Given the description of an element on the screen output the (x, y) to click on. 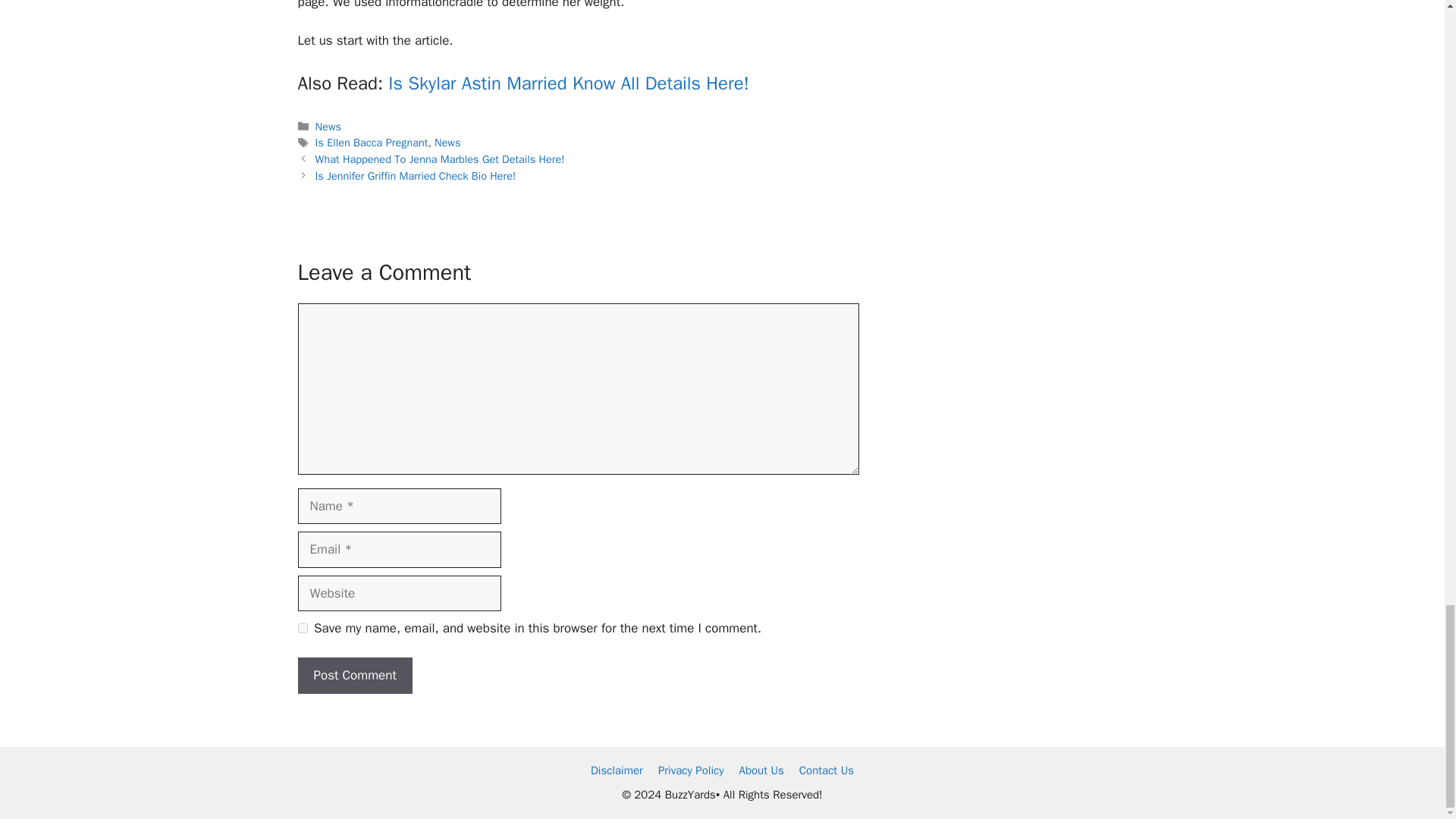
News (446, 142)
What Happened To Jenna Marbles Get Details Here! (439, 159)
yes (302, 628)
Post Comment (354, 675)
News (327, 126)
Post Comment (354, 675)
Is Jennifer Griffin Married Check Bio Here! (415, 175)
Is Skylar Astin Married Know All Details Here! (568, 83)
Is Ellen Bacca Pregnant (371, 142)
